Given the description of an element on the screen output the (x, y) to click on. 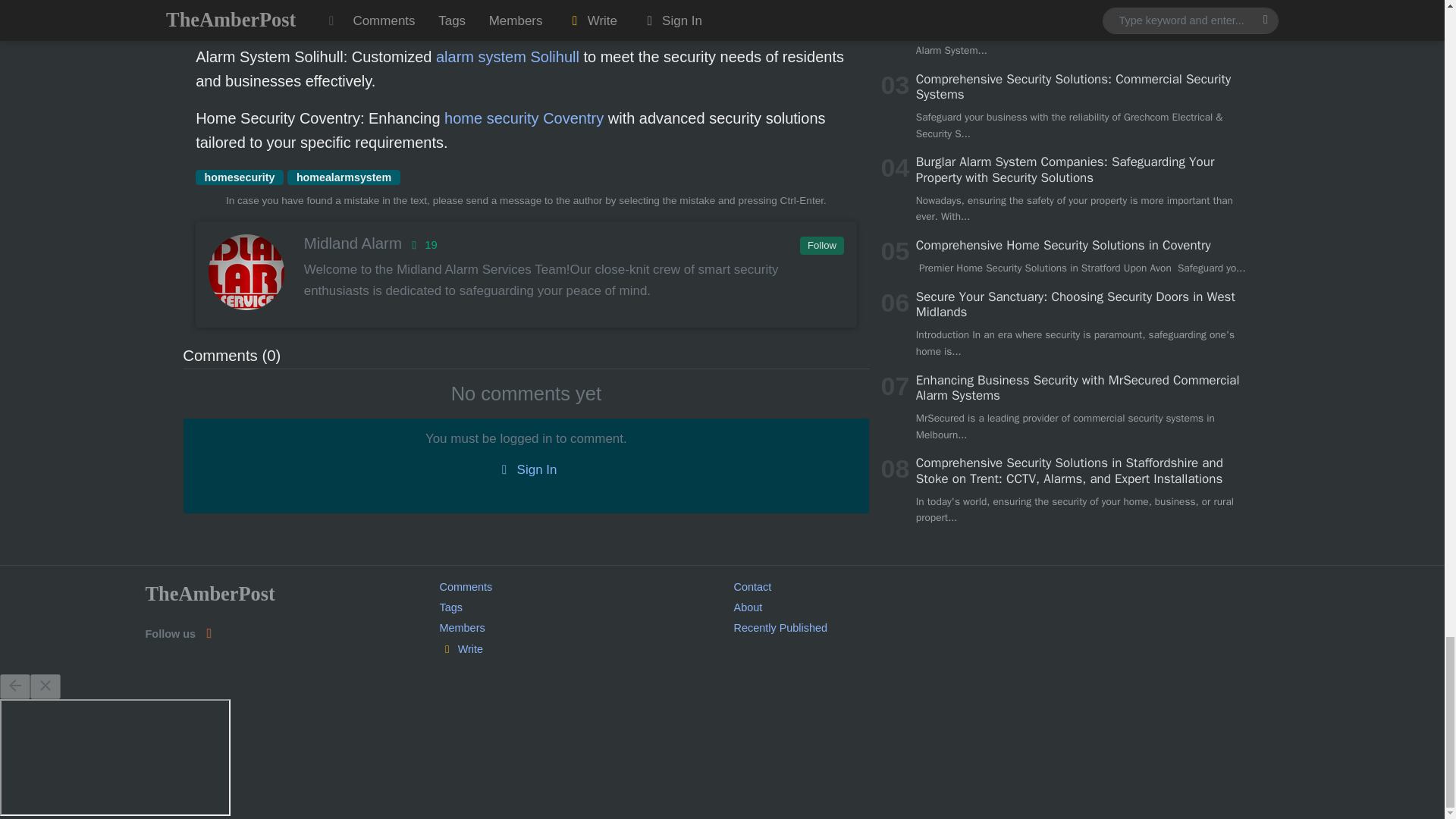
Rating (422, 244)
homealarmsystem (342, 177)
homesecurity (239, 177)
